Given the description of an element on the screen output the (x, y) to click on. 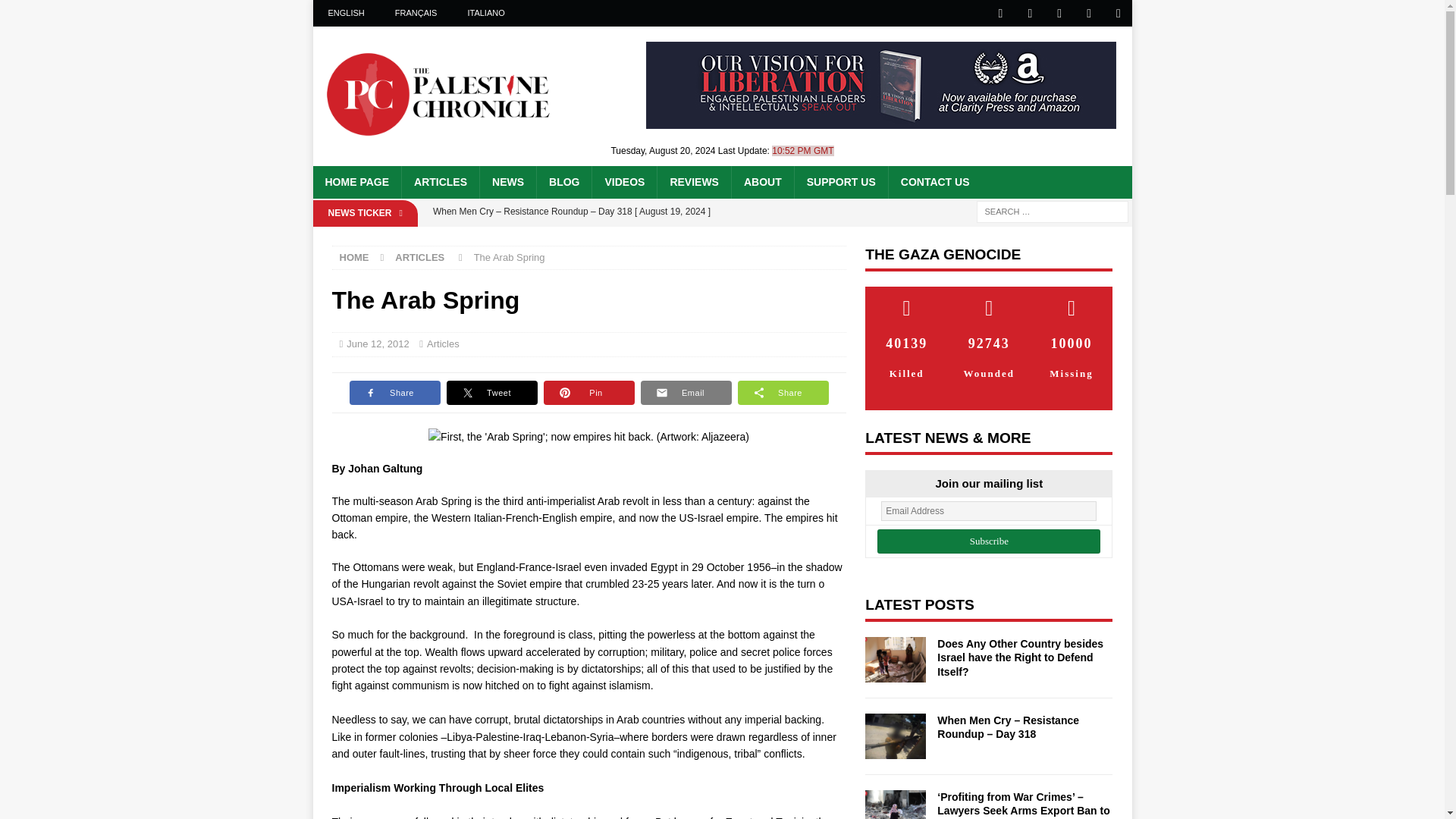
HOME (354, 256)
Search (56, 11)
HOME PAGE (357, 182)
CONTACT US (934, 182)
REVIEWS (693, 182)
ENGLISH (345, 13)
ARTICLES (440, 182)
Subscribe (988, 541)
SUPPORT US (840, 182)
BLOG (563, 182)
